Given the description of an element on the screen output the (x, y) to click on. 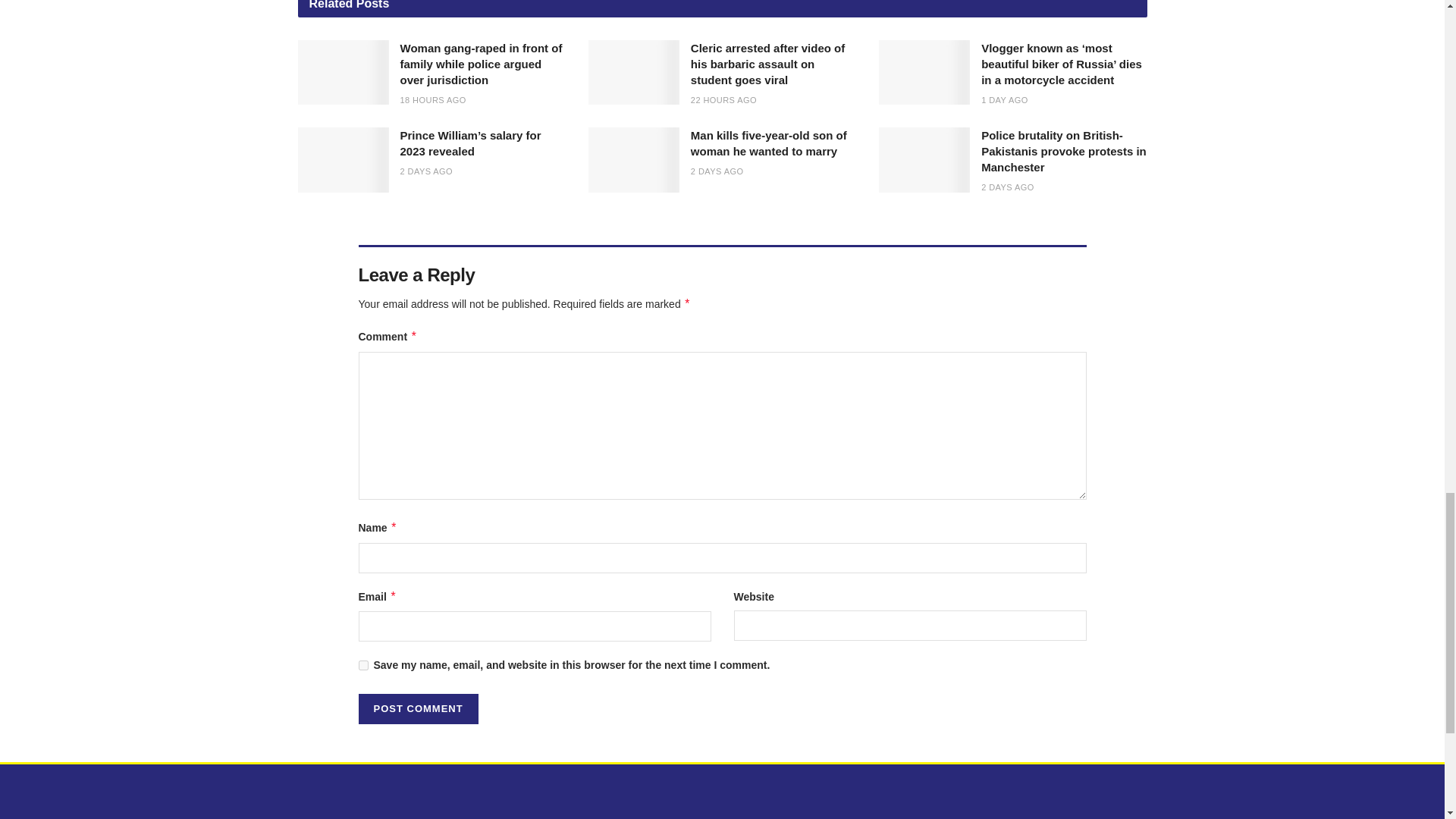
Post Comment (417, 708)
yes (363, 665)
